Given the description of an element on the screen output the (x, y) to click on. 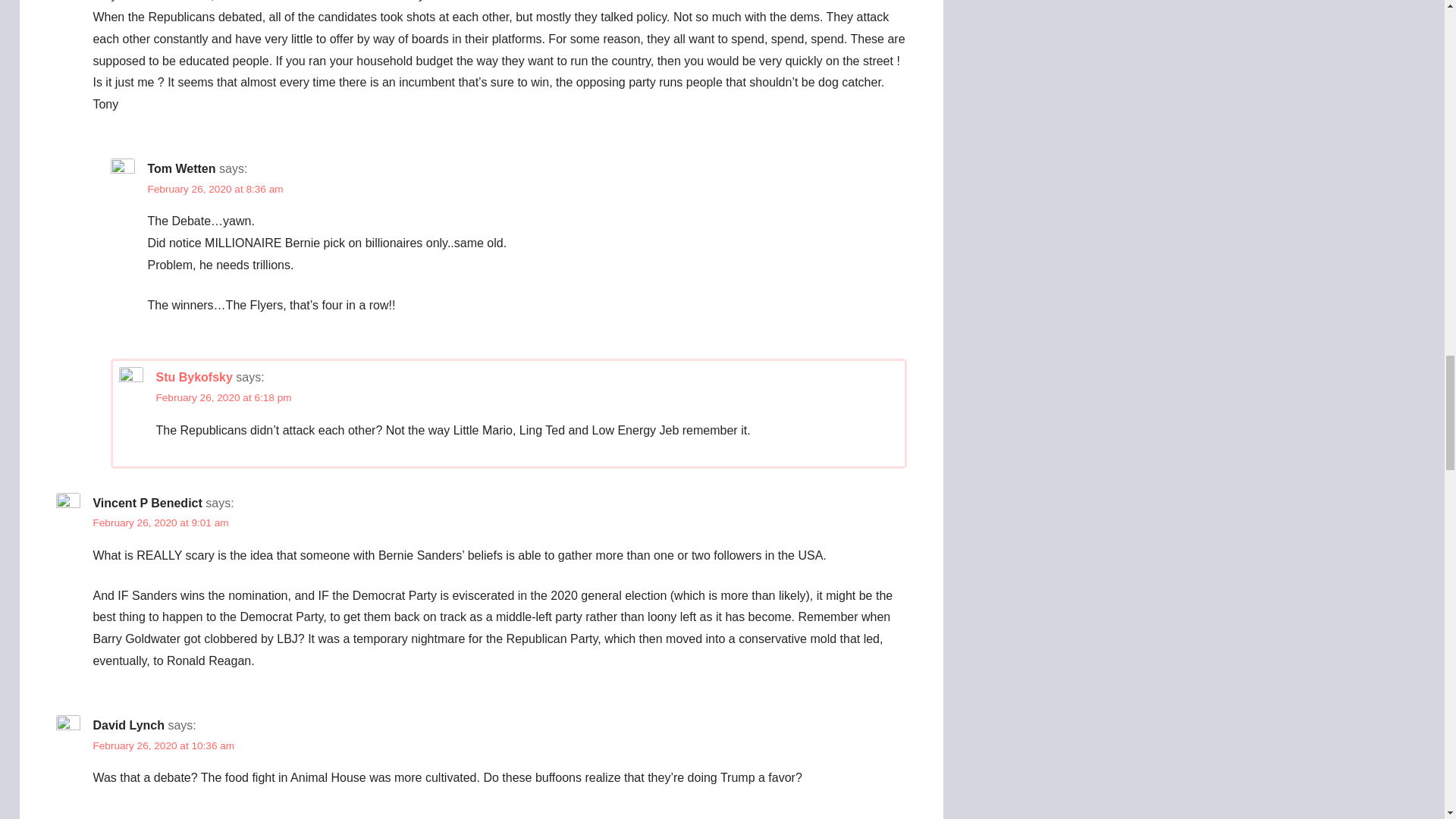
Stu Bykofsky (193, 377)
February 26, 2020 at 6:18 pm (223, 397)
February 26, 2020 at 8:36 am (214, 188)
February 26, 2020 at 9:01 am (160, 522)
February 26, 2020 at 10:36 am (163, 745)
